Given the description of an element on the screen output the (x, y) to click on. 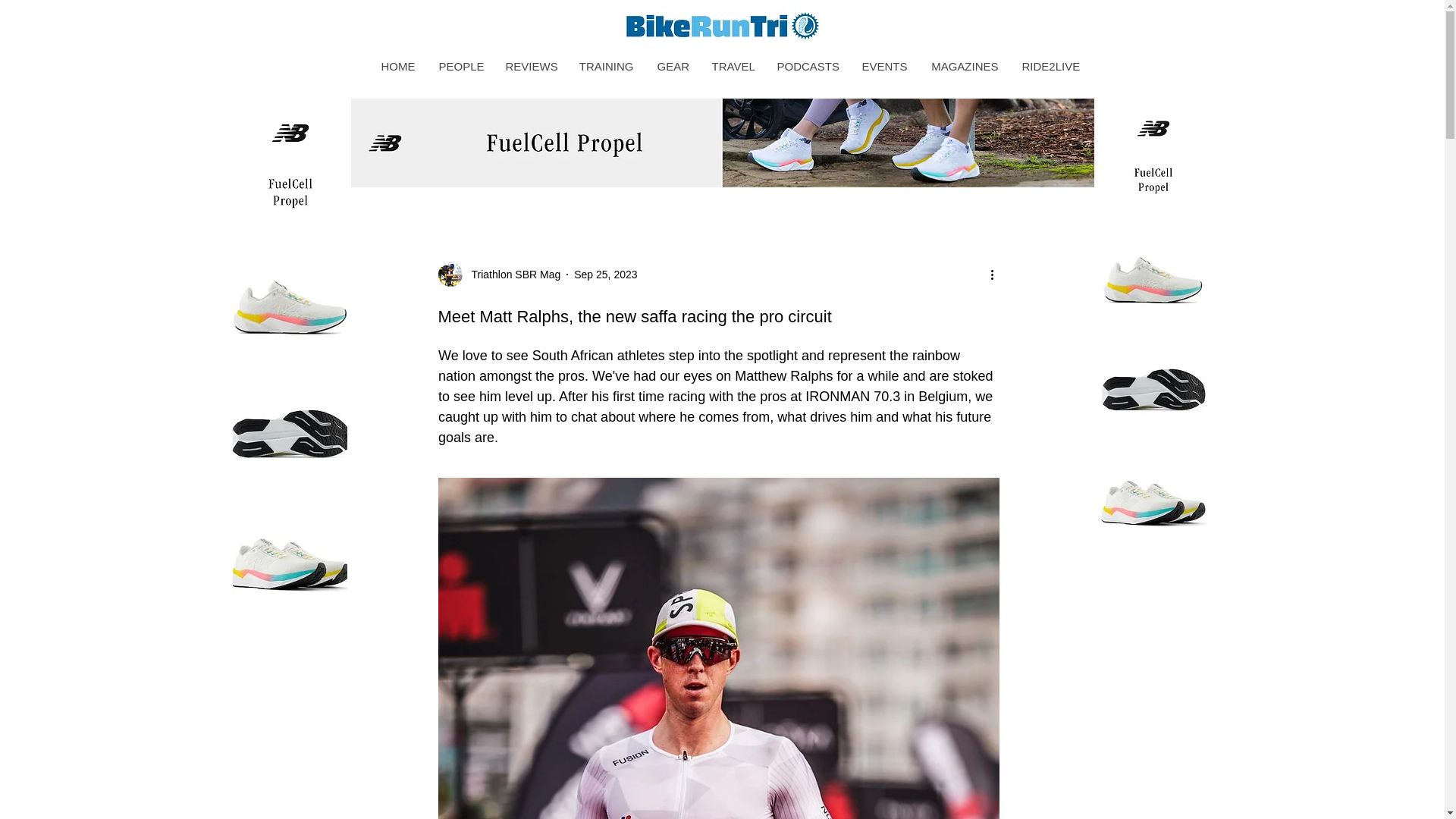
EVENTS (882, 66)
Triathlon SBR Mag (499, 274)
HOME (396, 66)
RIDE2LIVE (1049, 66)
GEAR (671, 66)
TRAVEL (731, 66)
TRAINING (605, 66)
MAGAZINES (963, 66)
REVIEWS (529, 66)
Triathlon SBR Mag (511, 274)
Sep 25, 2023 (605, 274)
PEOPLE (459, 66)
PODCASTS (806, 66)
